Given the description of an element on the screen output the (x, y) to click on. 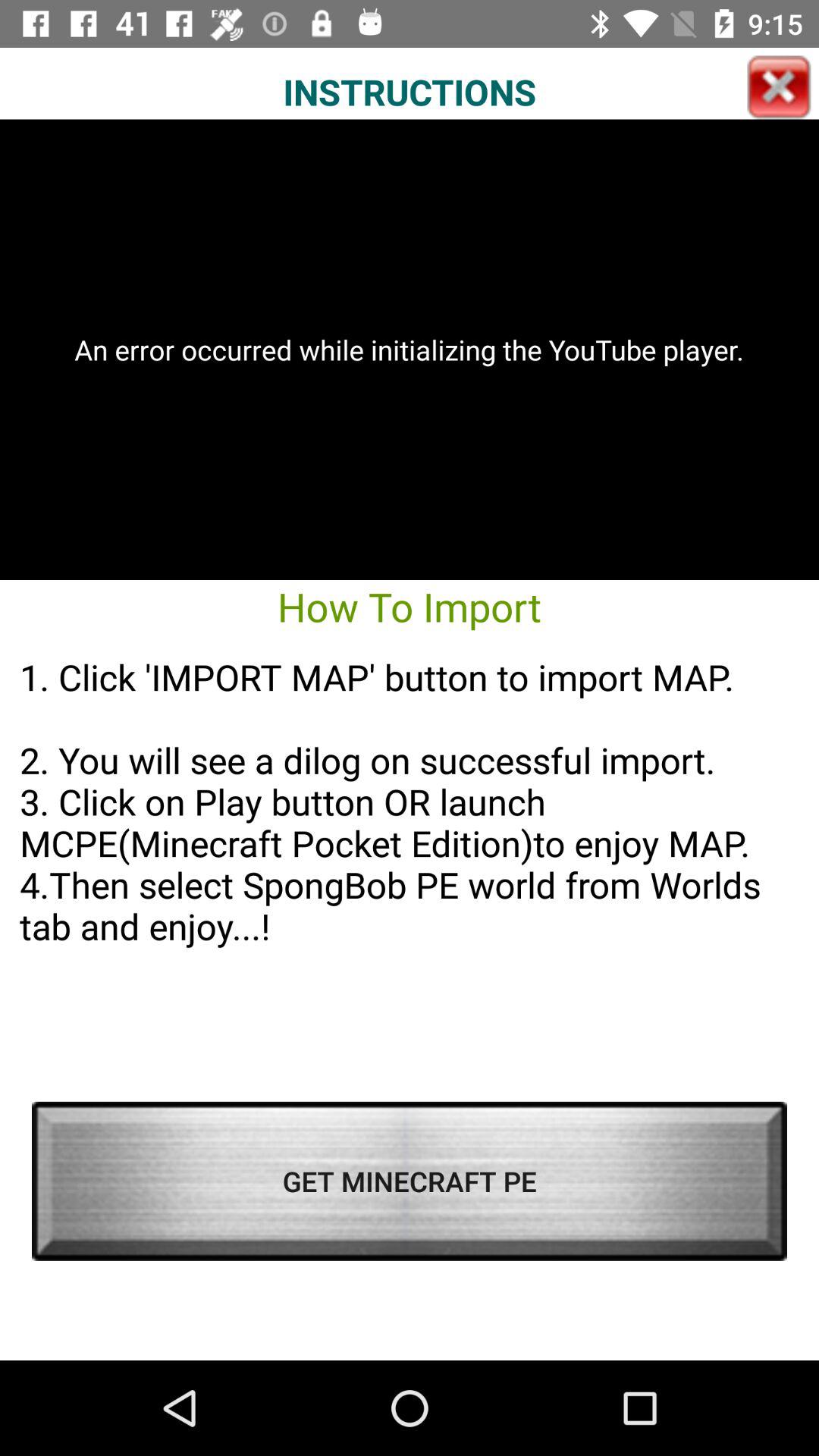
turn on icon at the top right corner (779, 87)
